Given the description of an element on the screen output the (x, y) to click on. 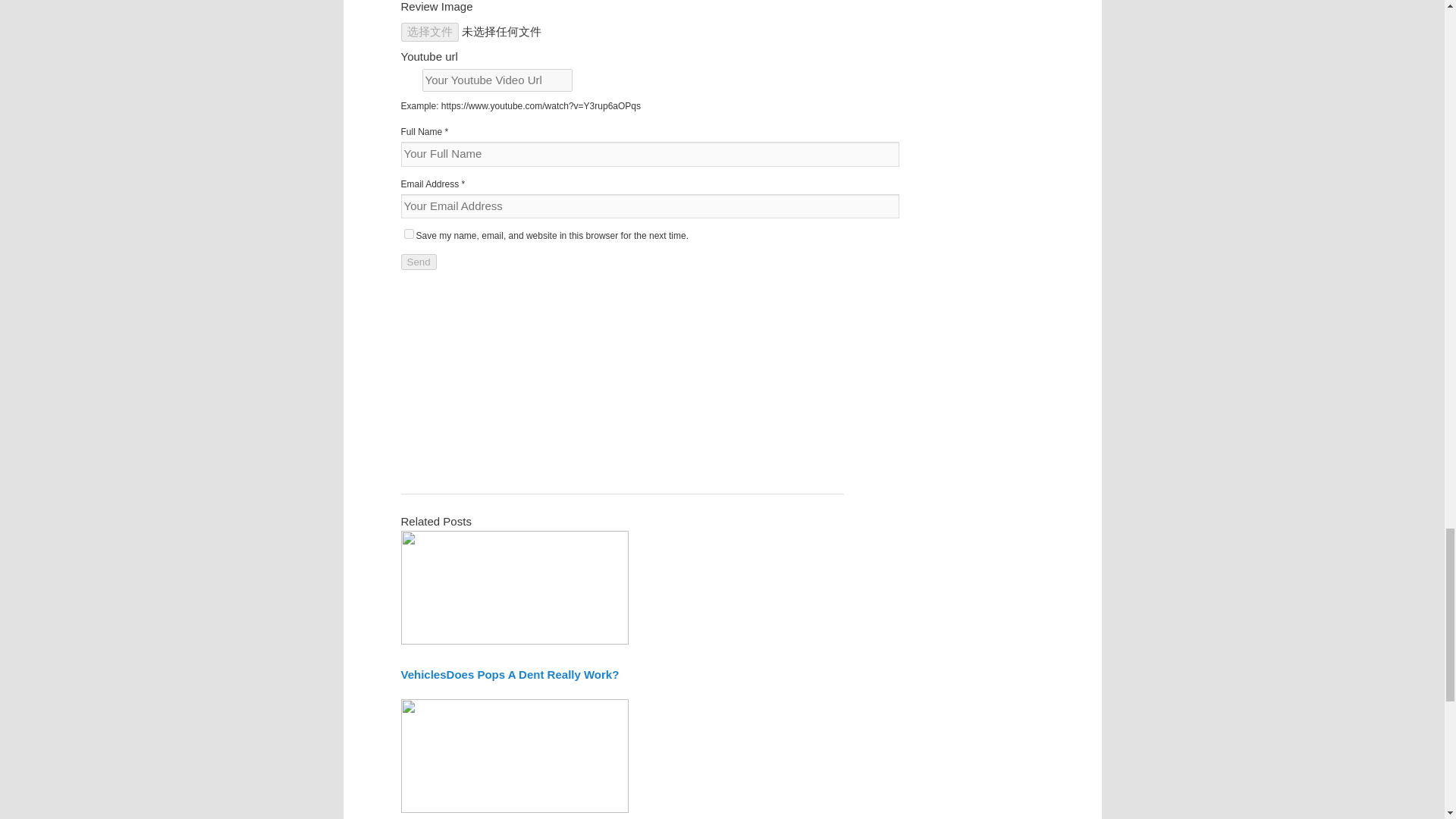
yes (408, 234)
Does Pops A Dent Really Work? (533, 674)
Send (417, 261)
Vehicles (422, 674)
